Given the description of an element on the screen output the (x, y) to click on. 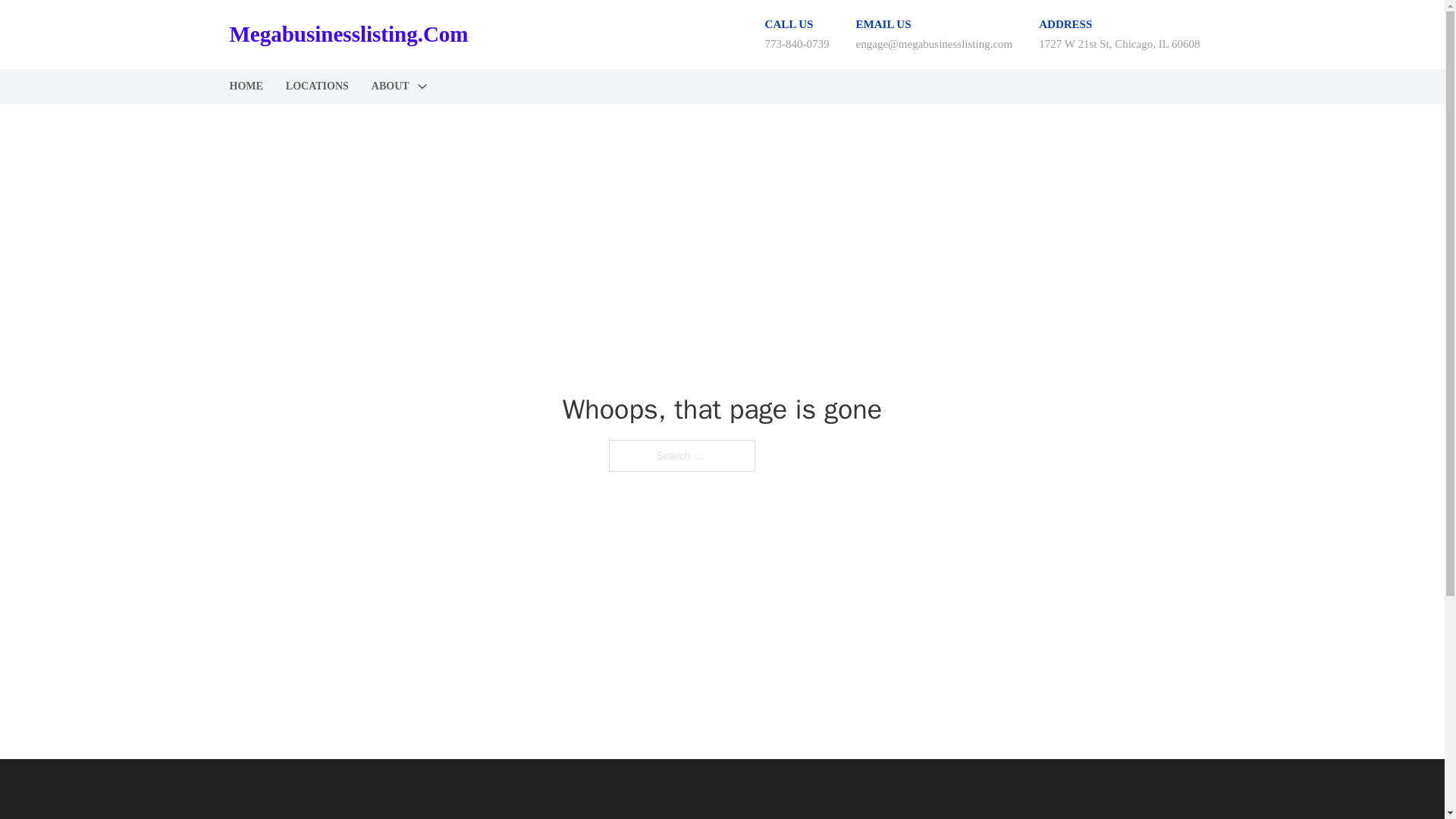
HOME (245, 85)
LOCATIONS (317, 85)
Megabusinesslisting.Com (347, 34)
773-840-0739 (797, 43)
